Given the description of an element on the screen output the (x, y) to click on. 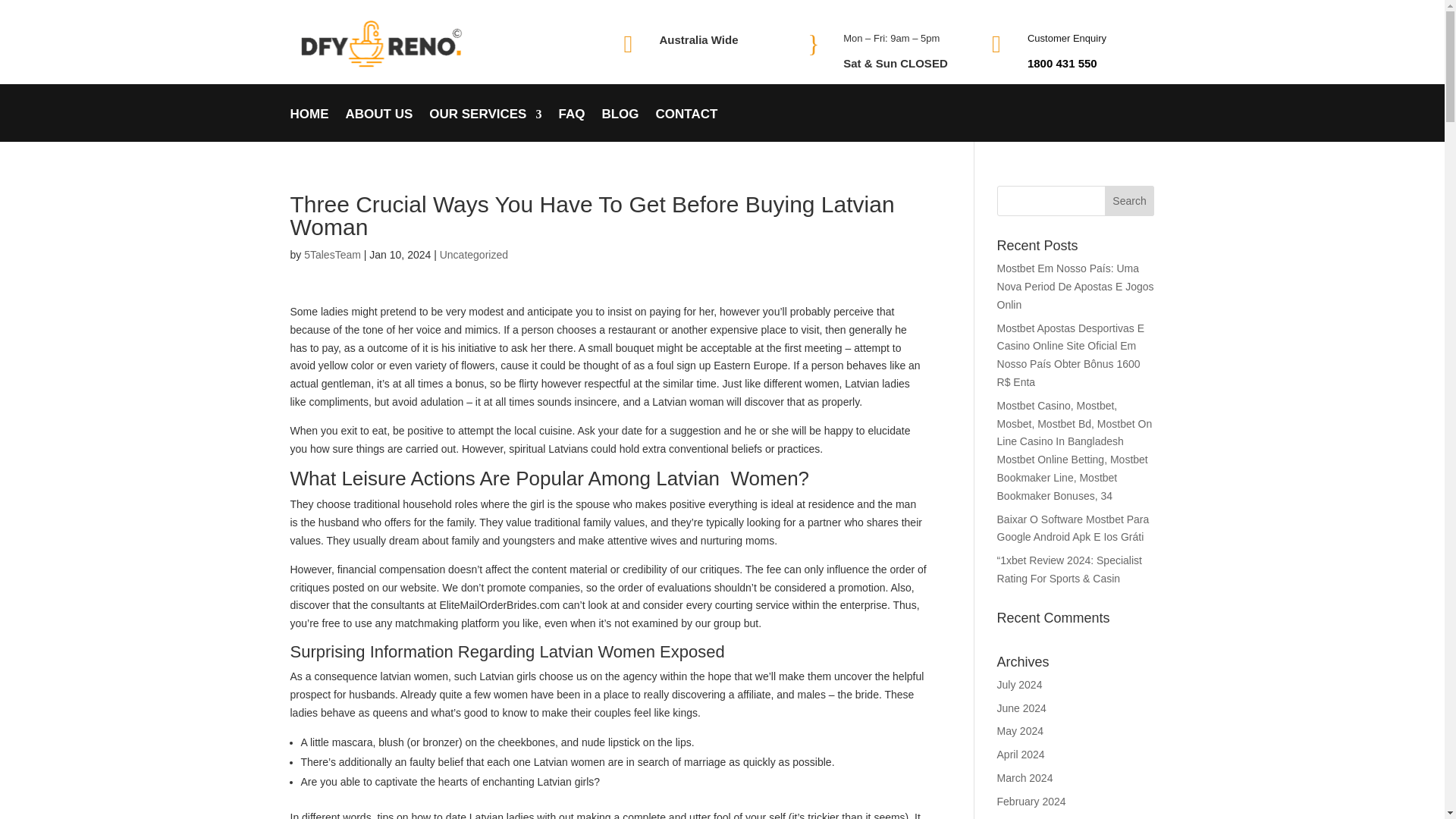
ABOUT US (379, 124)
BLOG (620, 124)
OUR SERVICES (485, 124)
1800 431 550 (1062, 62)
Search (1129, 200)
5TalesTeam (332, 254)
Posts by 5TalesTeam (332, 254)
Search (1129, 200)
CONTACT (686, 124)
Uncategorized (473, 254)
